Given the description of an element on the screen output the (x, y) to click on. 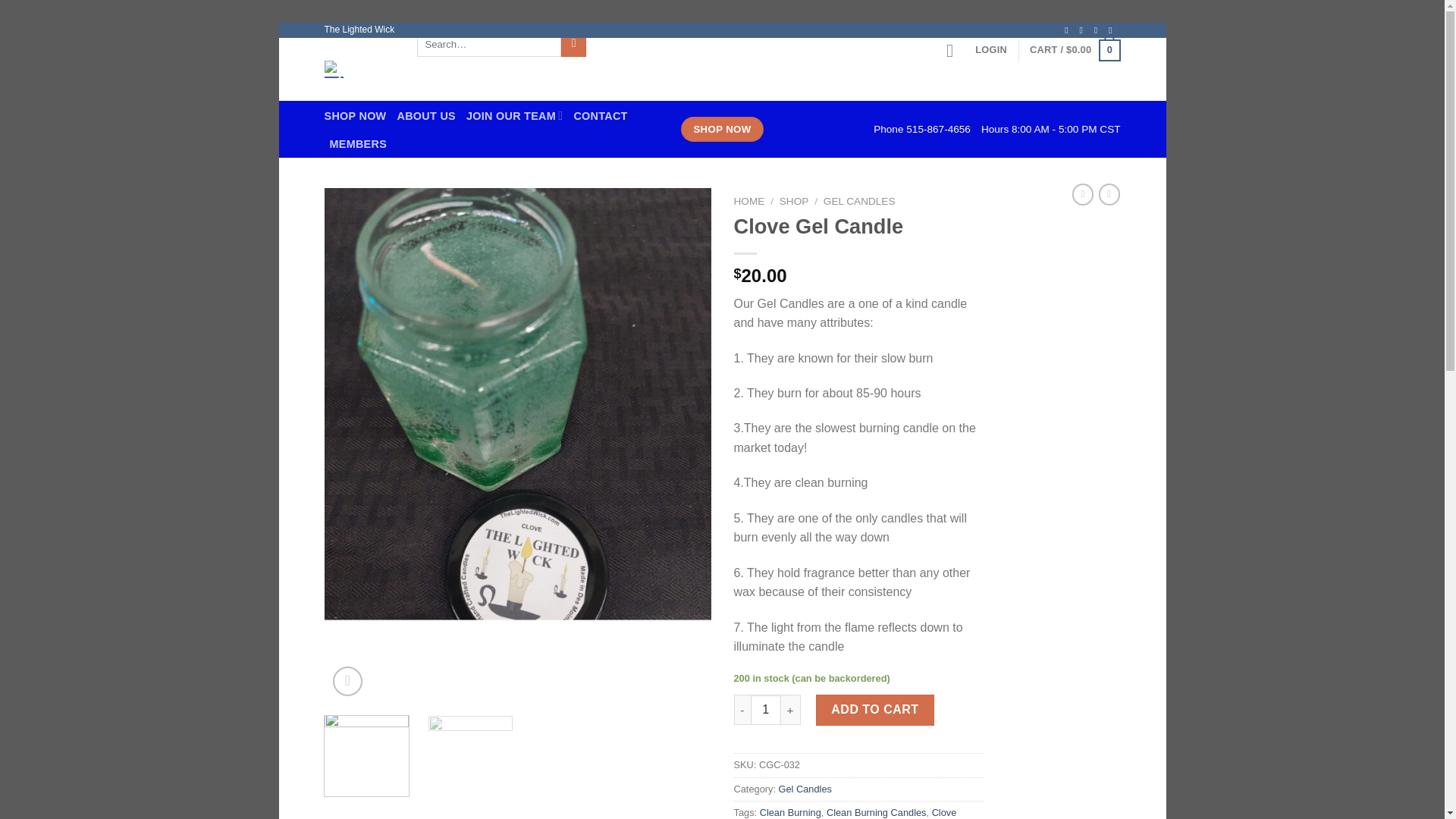
SHOP NOW (722, 129)
ABOUT US (426, 115)
MEMBERS (358, 144)
SHOP (793, 201)
JOIN OUR TEAM (513, 115)
Search (573, 44)
CONTACT (600, 115)
SHOP NOW (355, 115)
Gel Candles (804, 788)
